Given the description of an element on the screen output the (x, y) to click on. 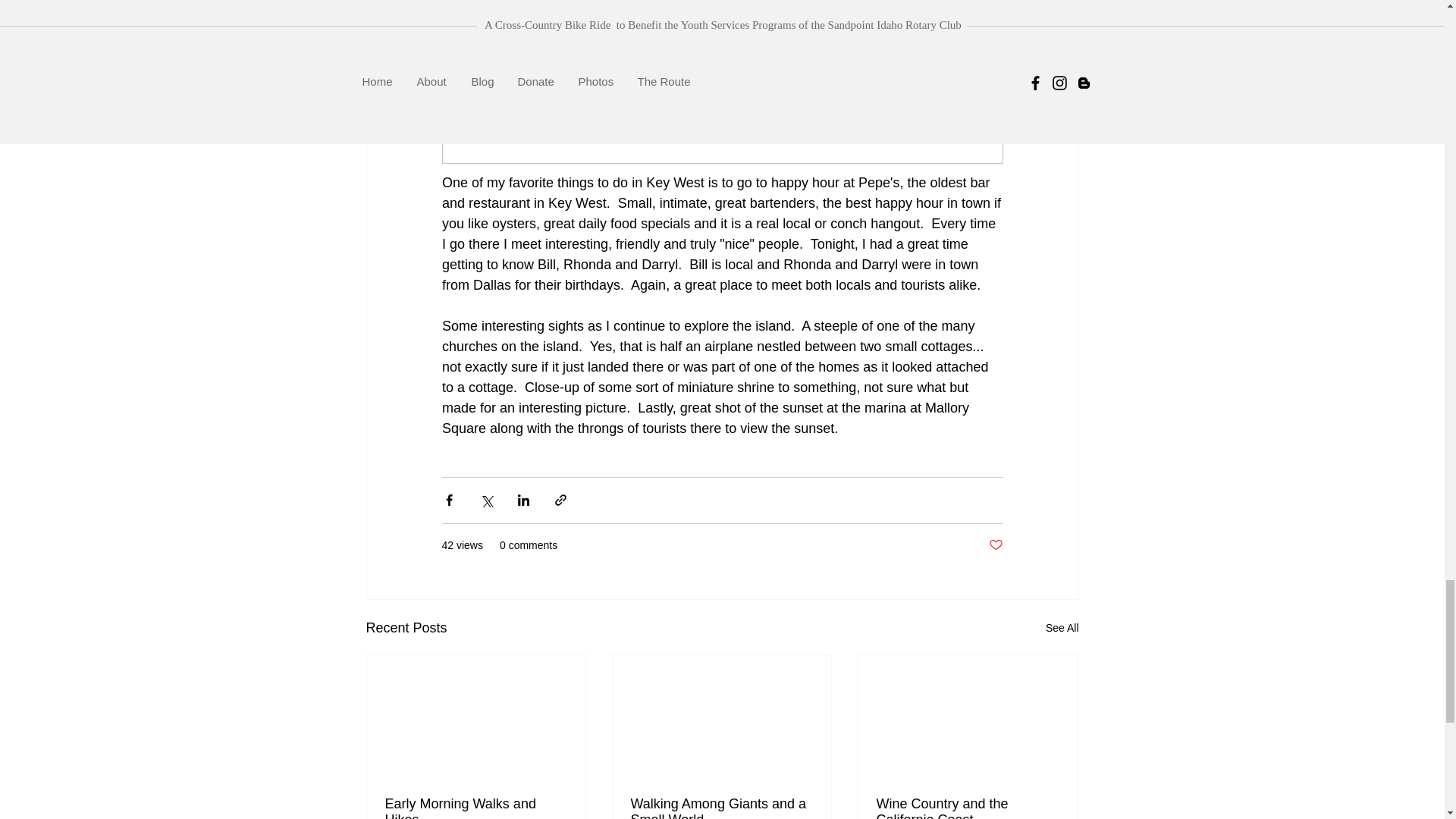
Walking Among Giants and a Small World (721, 807)
See All (1061, 628)
Wine Country and the California Coast (967, 807)
Early Morning Walks and Hikes (476, 807)
Post not marked as liked (995, 545)
